Given the description of an element on the screen output the (x, y) to click on. 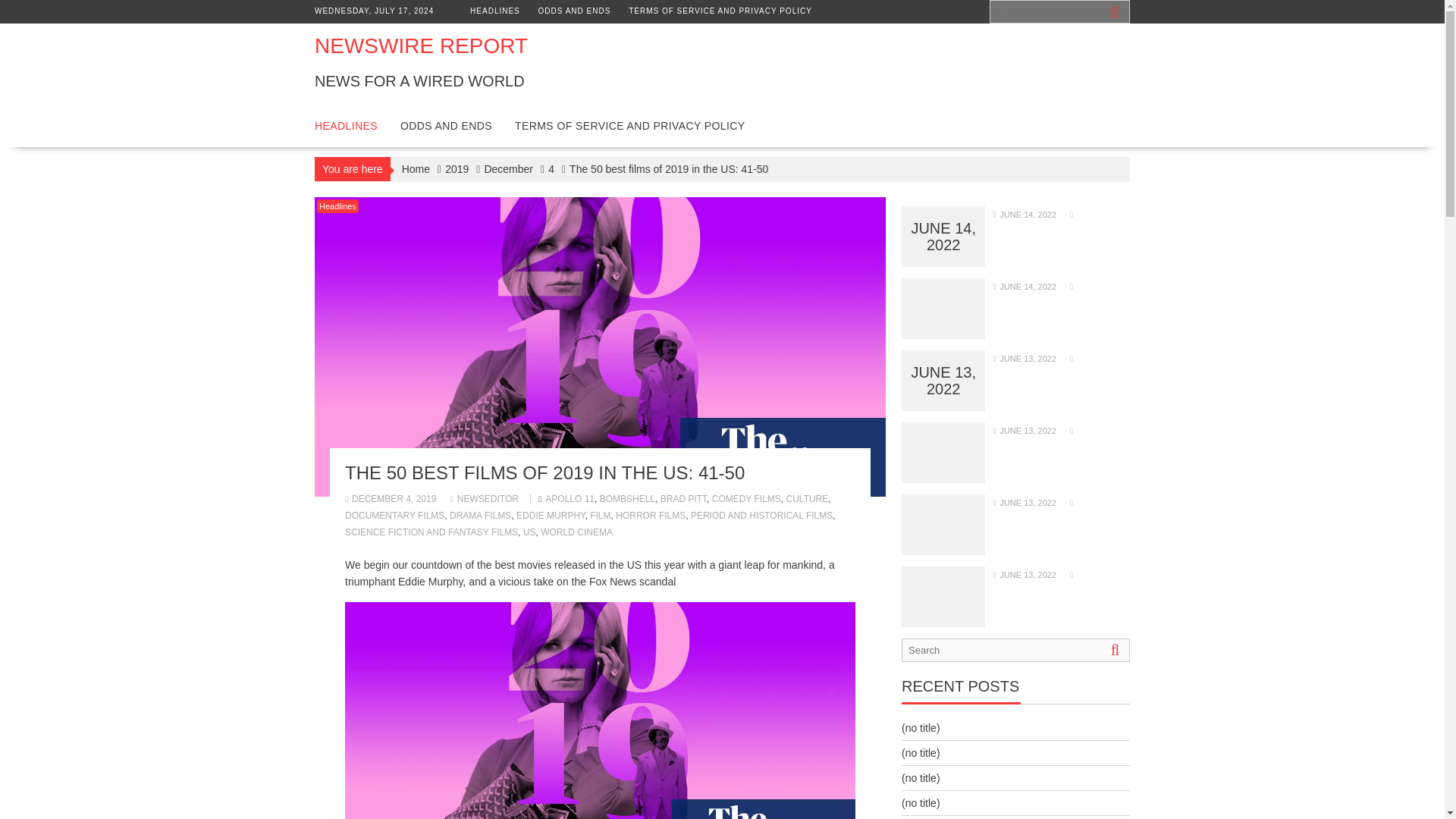
COMEDY FILMS (745, 498)
DOCUMENTARY FILMS (394, 515)
APOLLO 11 (569, 498)
HORROR FILMS (650, 515)
US (528, 532)
CULTURE (807, 498)
SCIENCE FICTION AND FANTASY FILMS (431, 532)
PERIOD AND HISTORICAL FILMS (761, 515)
WORLD CINEMA (576, 532)
ODDS AND ENDS (574, 10)
TERMS OF SERVICE AND PRIVACY POLICY (720, 10)
BRAD PITT (683, 498)
ODDS AND ENDS (445, 125)
TERMS OF SERVICE AND PRIVACY POLICY (629, 125)
DRAMA FILMS (480, 515)
